Given the description of an element on the screen output the (x, y) to click on. 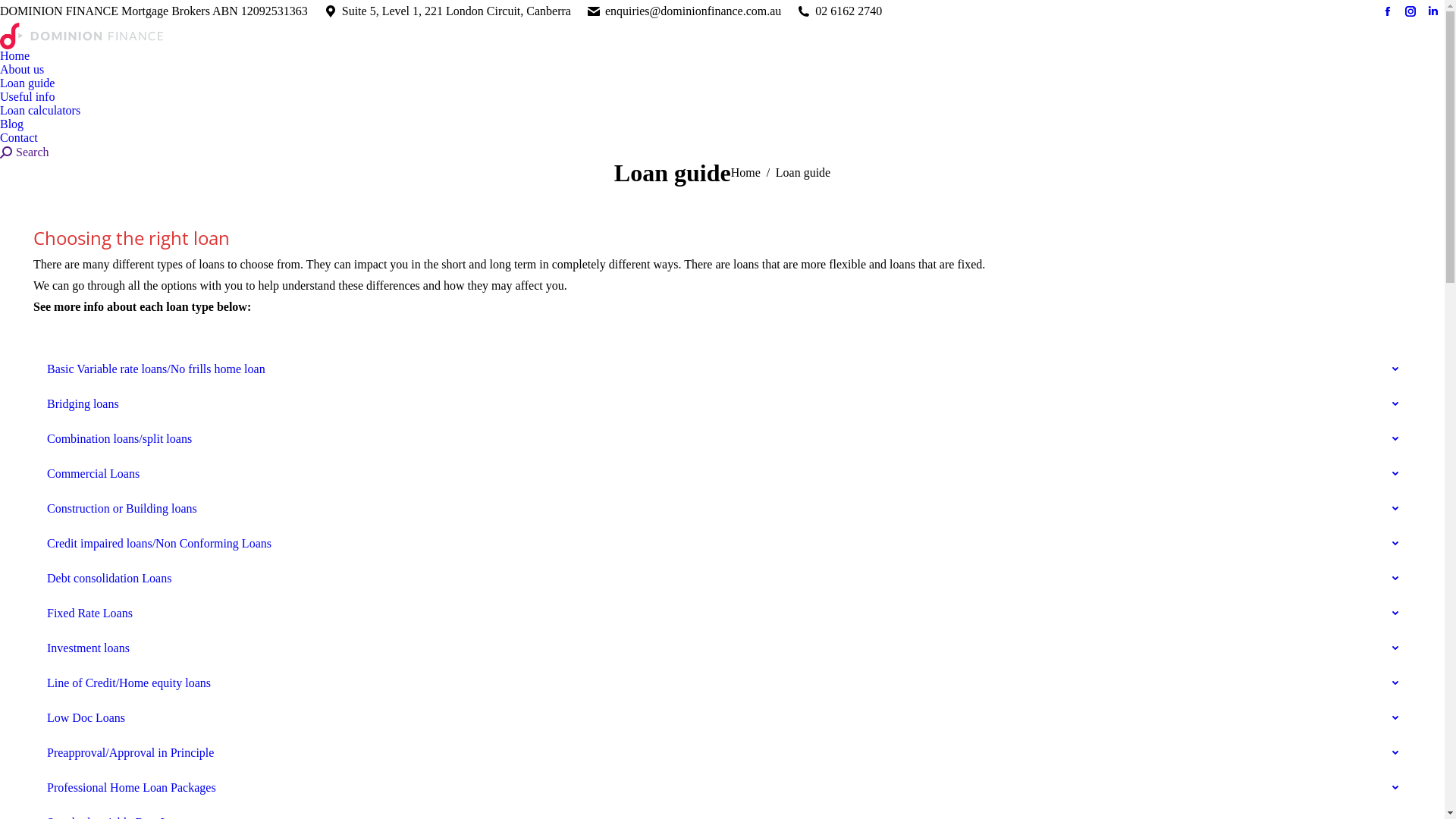
Linkedin page opens in new window Element type: text (1433, 11)
Low Doc Loans Element type: text (722, 717)
Debt consolidation Loans Element type: text (722, 578)
Fixed Rate Loans Element type: text (722, 613)
Loan guide Element type: text (27, 82)
Credit impaired loans/Non Conforming Loans Element type: text (722, 543)
Preapproval/Approval in Principle Element type: text (722, 752)
Home Element type: text (745, 172)
Loan calculators Element type: text (40, 109)
Bridging loans Element type: text (722, 403)
Professional Home Loan Packages Element type: text (722, 787)
Basic Variable rate loans/No frills home loan Element type: text (722, 368)
Go! Element type: text (11, 8)
Construction or Building loans Element type: text (722, 508)
Home Element type: text (14, 55)
Line of Credit/Home equity loans Element type: text (722, 682)
Facebook page opens in new window Element type: text (1387, 11)
Search Element type: text (24, 152)
Contact Element type: text (18, 137)
Commercial Loans Element type: text (722, 473)
Instagram page opens in new window Element type: text (1410, 11)
About us Element type: text (21, 68)
Investment loans Element type: text (722, 648)
Blog Element type: text (11, 123)
Combination loans/split loans Element type: text (722, 438)
Useful info Element type: text (27, 96)
